Given the description of an element on the screen output the (x, y) to click on. 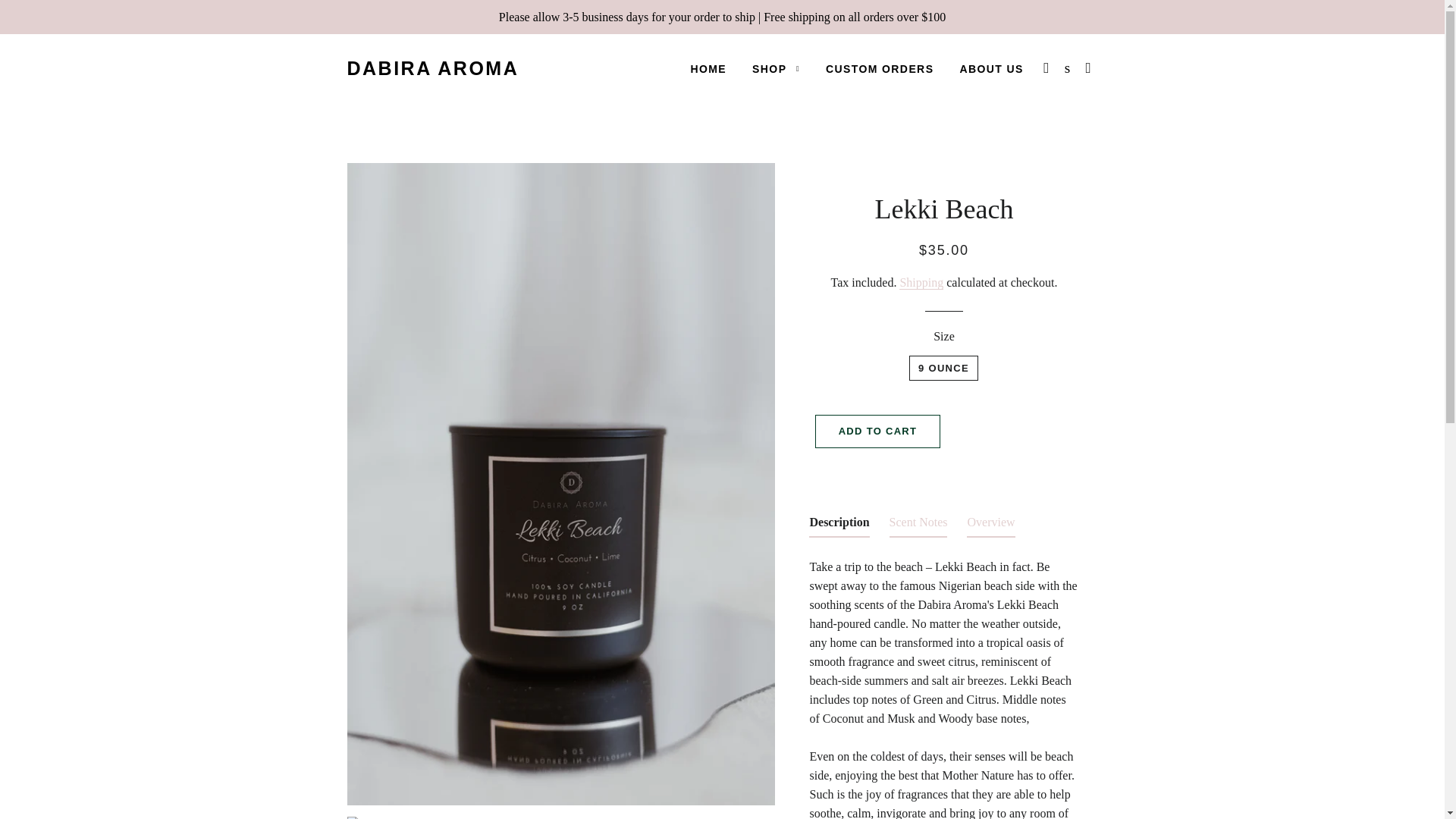
Description (839, 524)
Overview (990, 524)
ABOUT US (990, 69)
Scent Notes (918, 524)
SHOP (775, 69)
HOME (708, 69)
Shipping (921, 282)
ADD TO CART (877, 430)
DABIRA AROMA (433, 68)
